Given the description of an element on the screen output the (x, y) to click on. 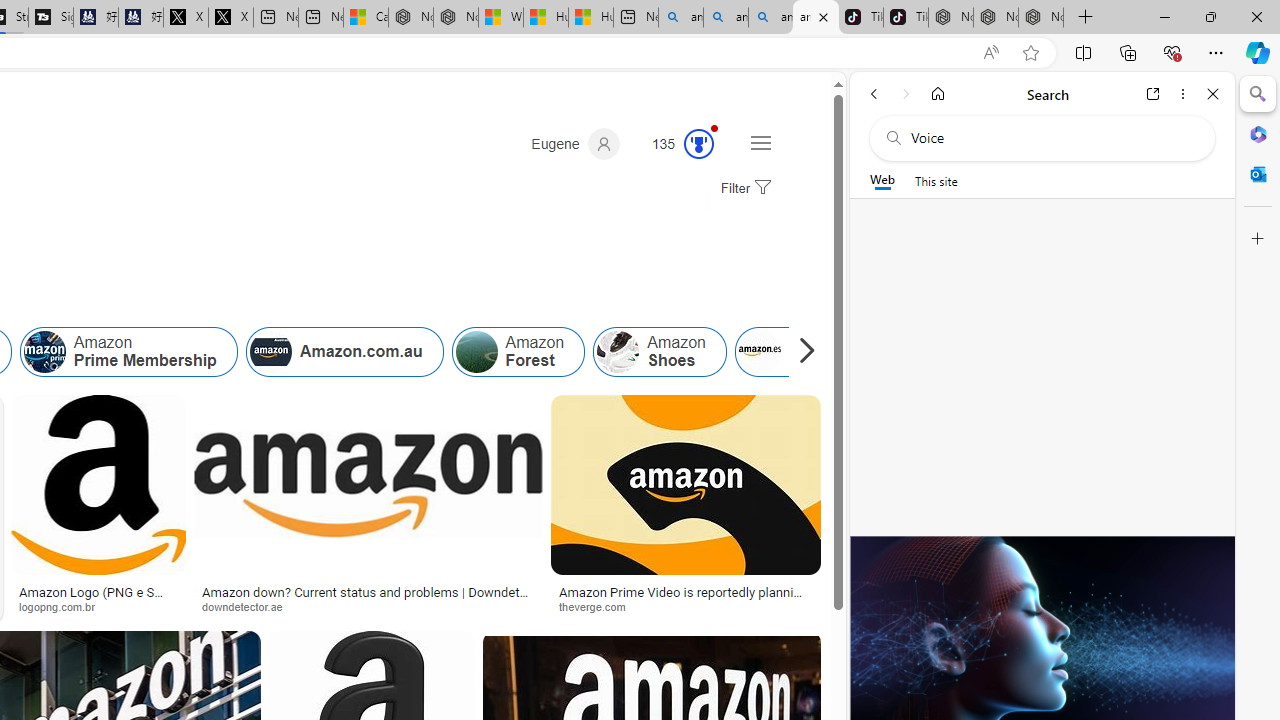
Home (938, 93)
Nordace Siena Pro 15 Backpack (995, 17)
Amazon Prime Membership (44, 351)
Amazon Prime Membership (128, 351)
theverge.com (599, 605)
This site scope (936, 180)
Scroll right (801, 351)
Nordace - Best Sellers (950, 17)
downdetector.ae (368, 606)
Amazon Forest (475, 351)
Nordace - Siena Pro 15 Essential Set (1040, 17)
